Given the description of an element on the screen output the (x, y) to click on. 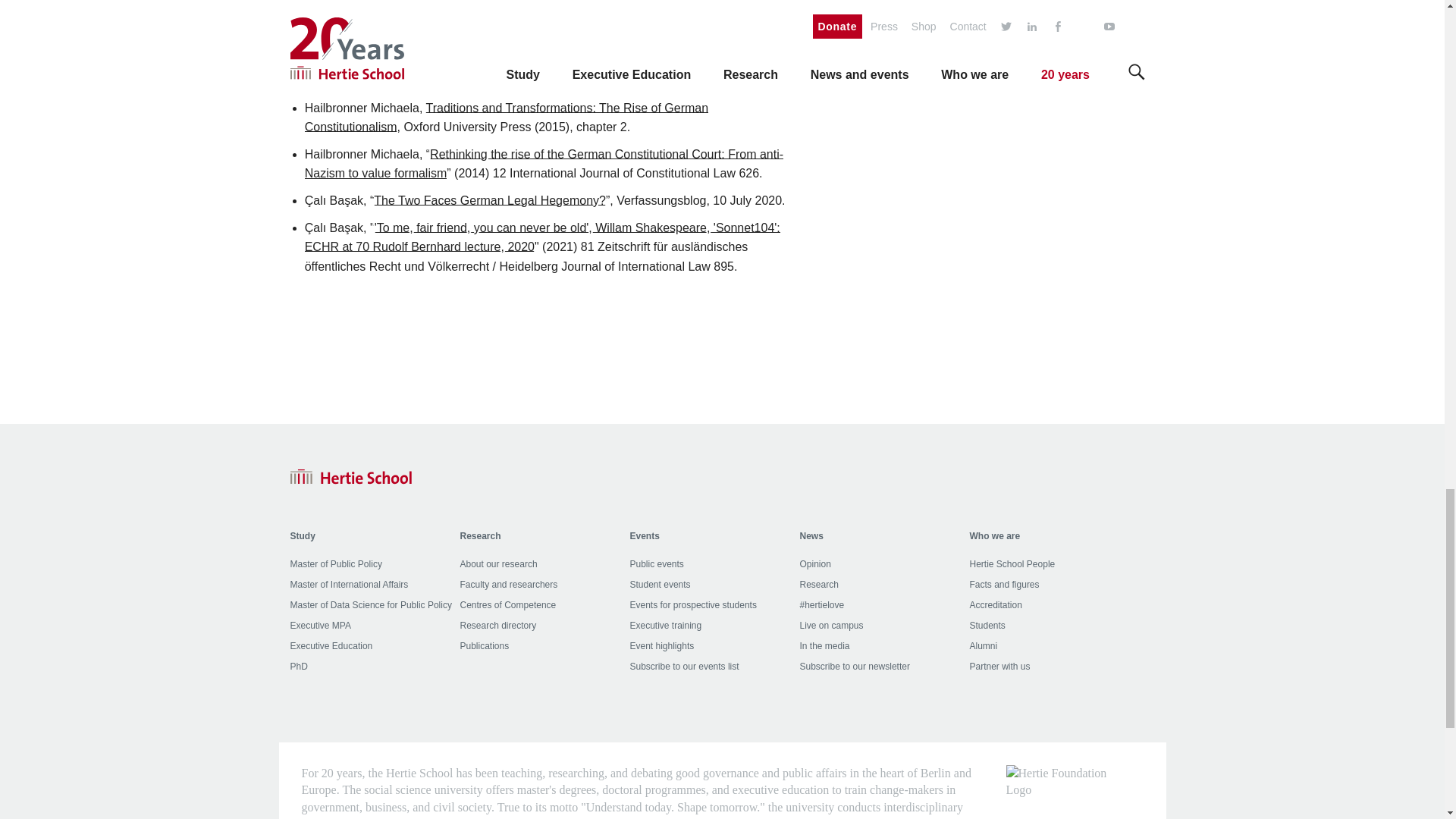
Master of Public Policy (335, 563)
Home (349, 476)
Master of International Affairs (348, 584)
Master of Data Science for Public Policy (370, 604)
